Given the description of an element on the screen output the (x, y) to click on. 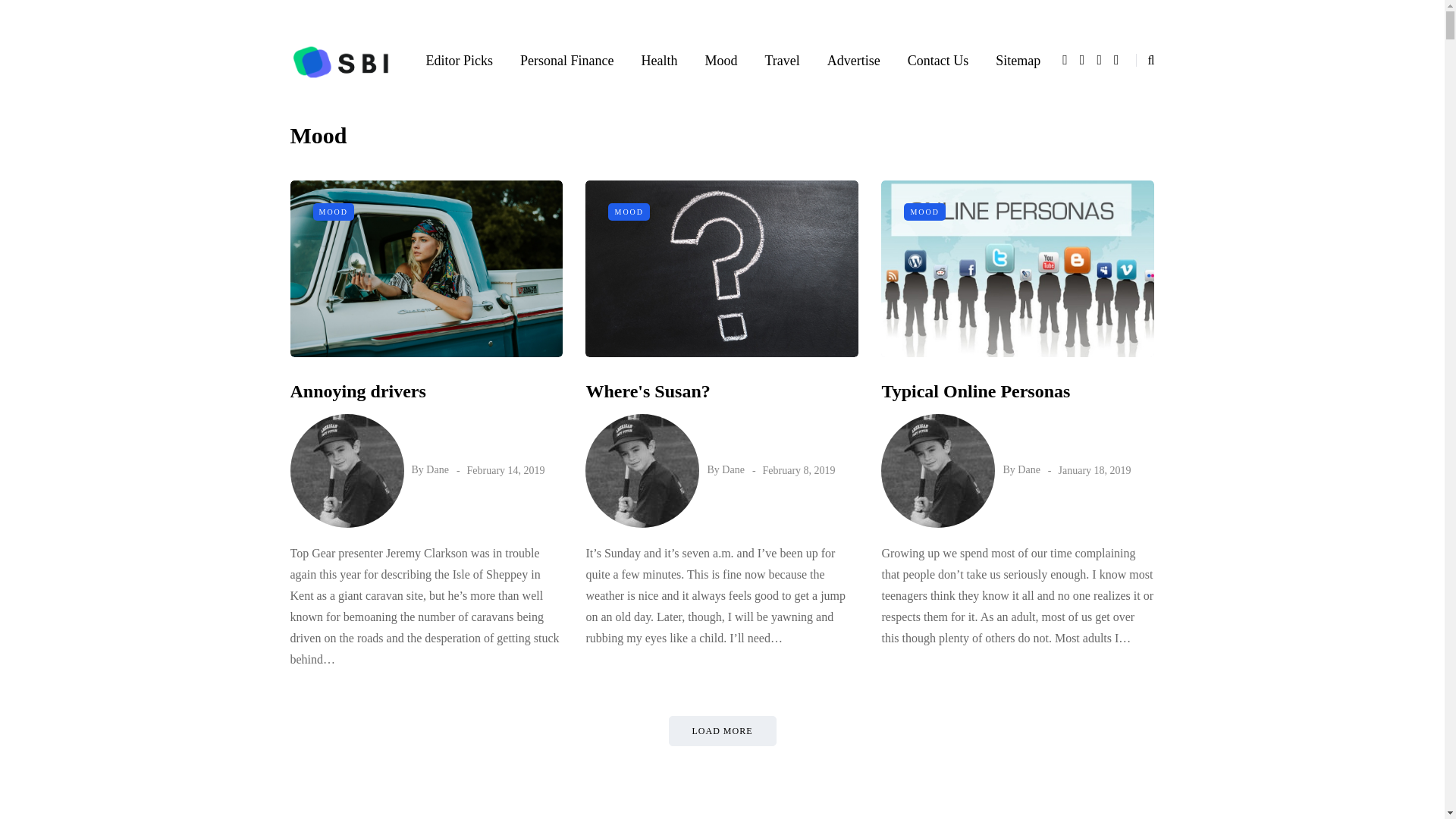
Sitemap (1017, 60)
MOOD (333, 212)
Advertise (853, 60)
Dane (733, 470)
Contact Us (937, 60)
Annoying drivers (357, 391)
Mood (720, 60)
Posts by Dane (733, 470)
Where's Susan? (647, 391)
MOOD (628, 212)
